Given the description of an element on the screen output the (x, y) to click on. 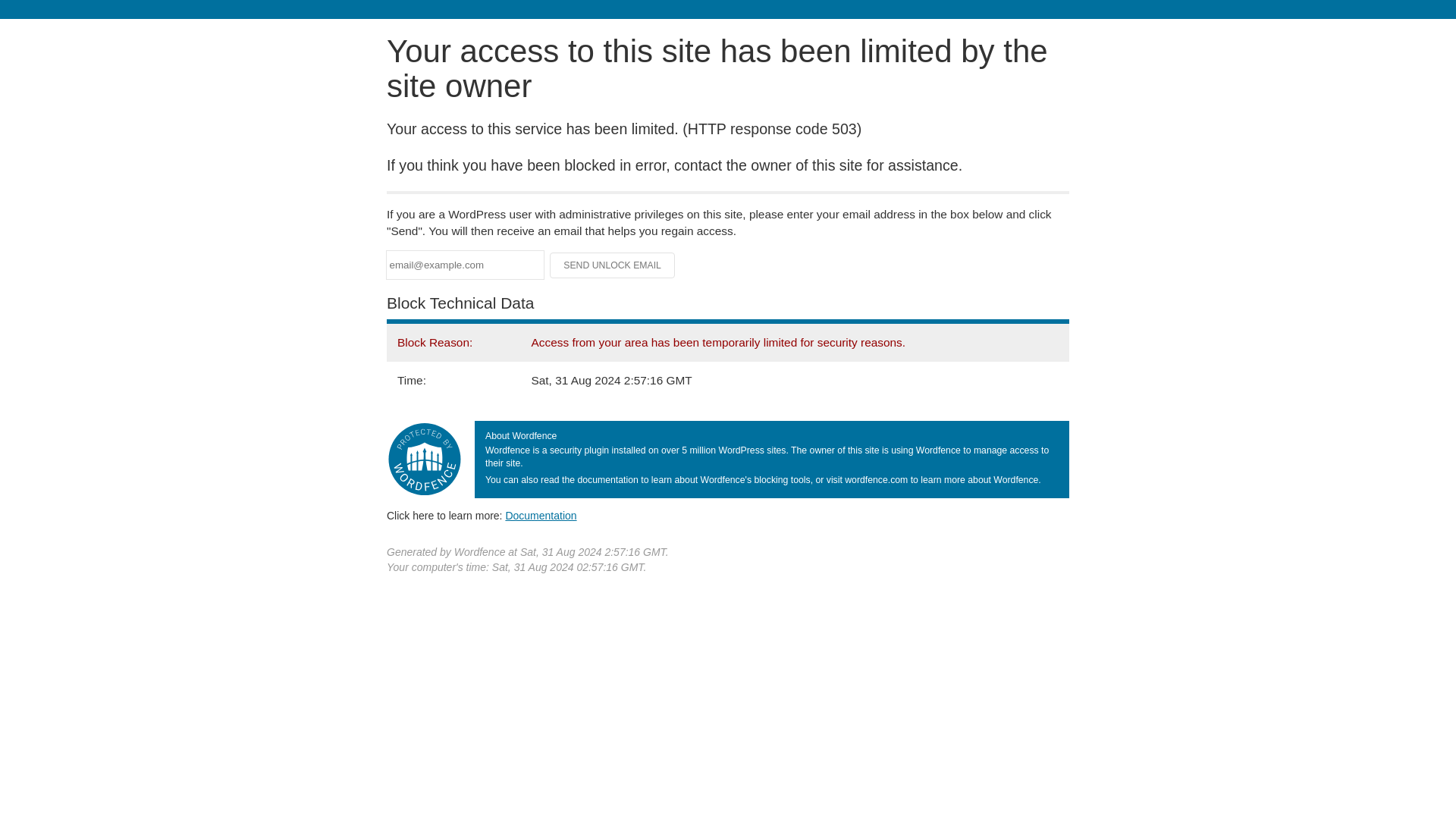
Documentation (540, 515)
Send Unlock Email (612, 265)
Send Unlock Email (612, 265)
